Given the description of an element on the screen output the (x, y) to click on. 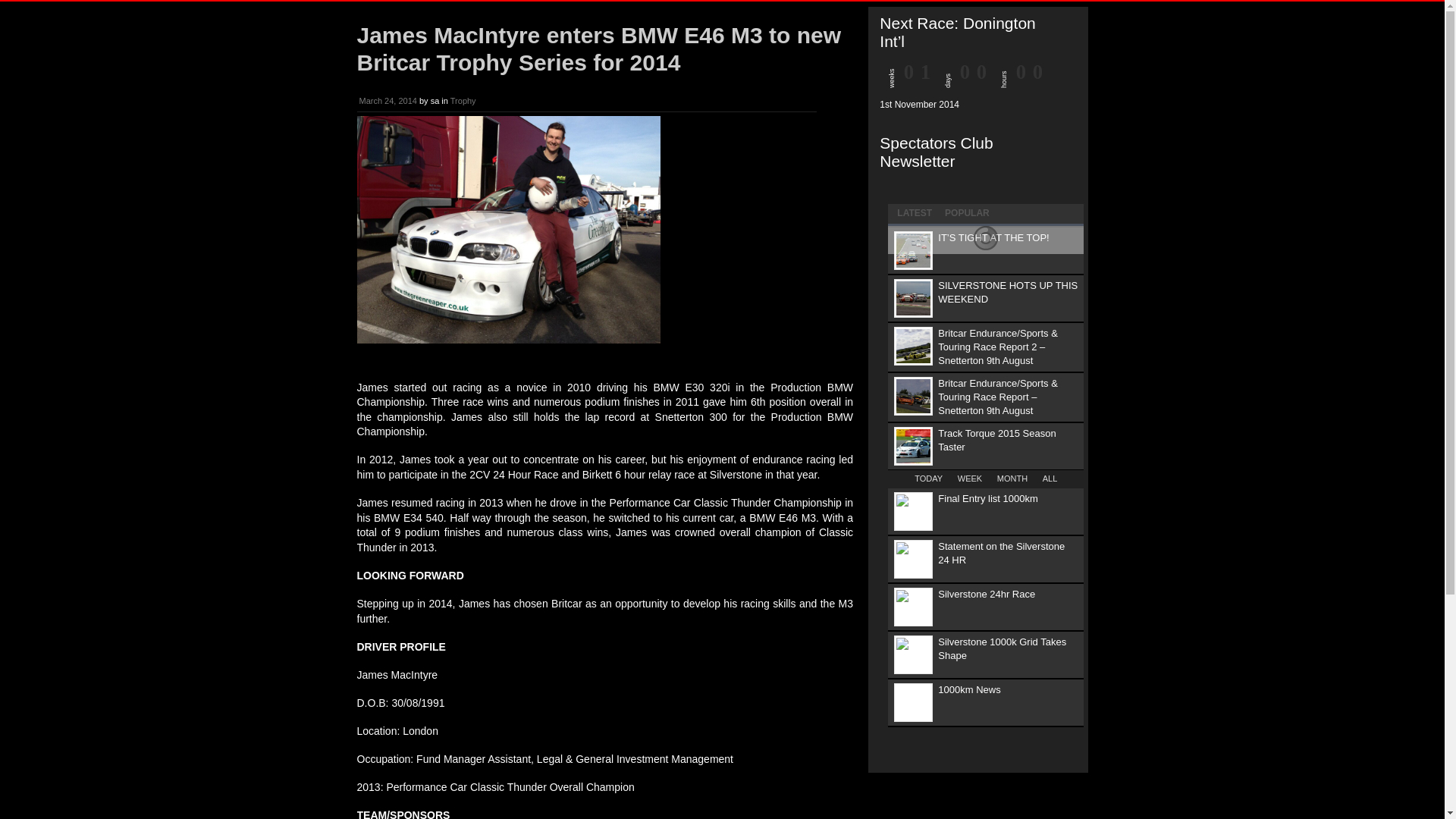
6:00 pm (387, 100)
ALL (1050, 478)
TODAY (928, 478)
MONTH (1012, 478)
WEEK (969, 478)
Trophy (462, 100)
LATEST (914, 211)
POPULAR (966, 211)
March 24, 2014 (387, 100)
